Given the description of an element on the screen output the (x, y) to click on. 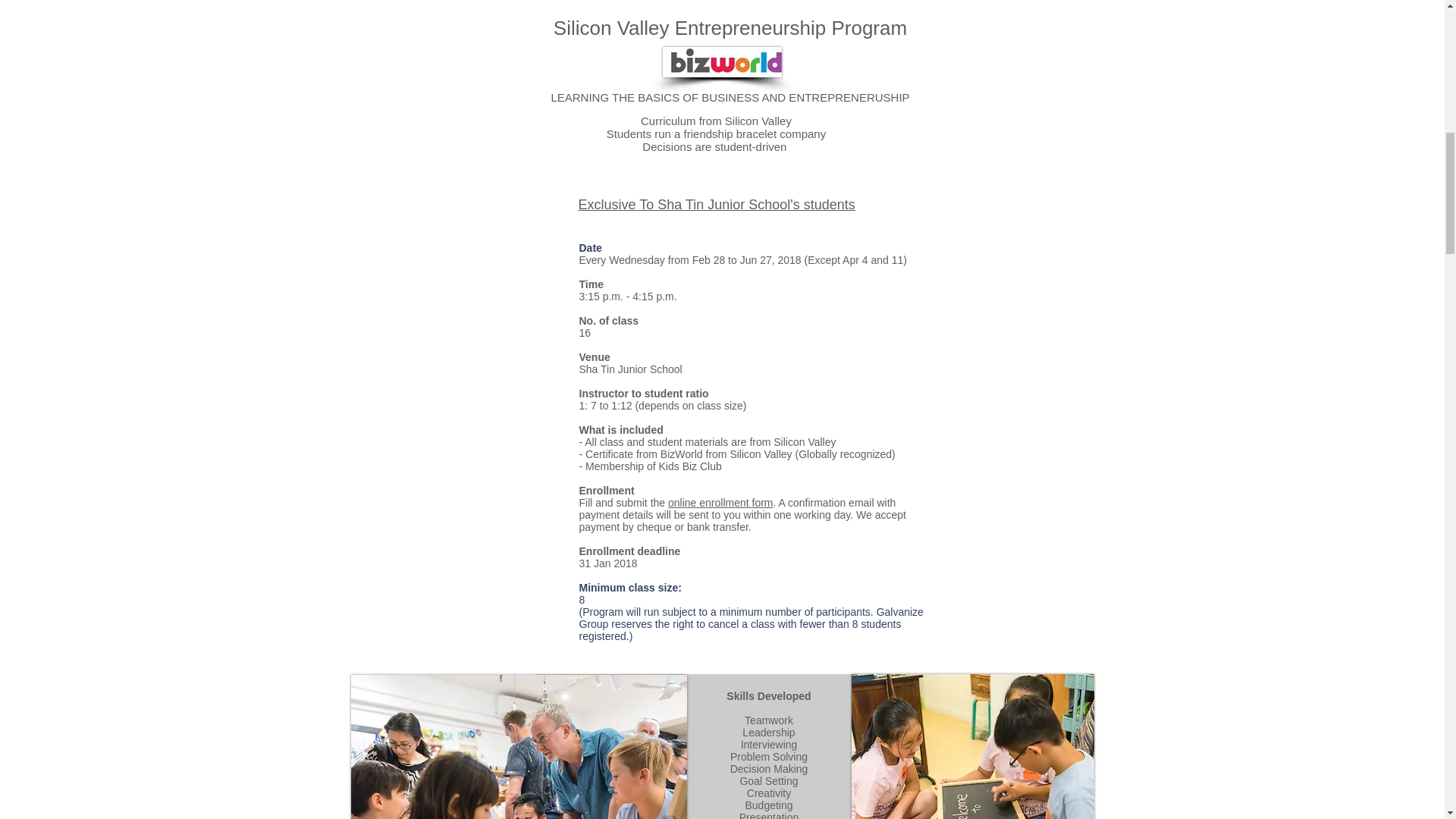
DSC07986.jpg (971, 746)
DSC08136.jpg (517, 746)
online enrollment form (720, 502)
